Given the description of an element on the screen output the (x, y) to click on. 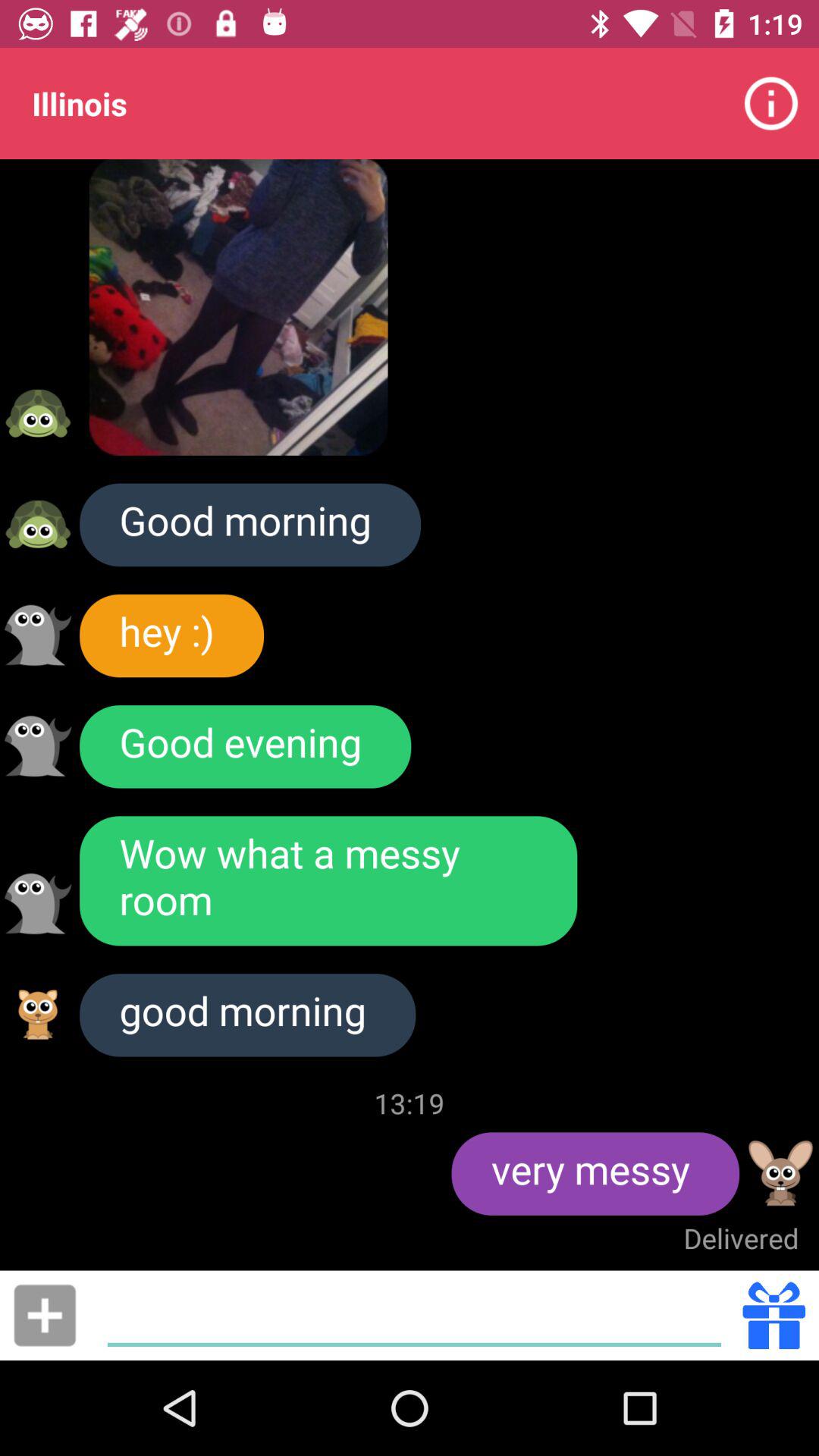
flip to delivered item (741, 1237)
